Given the description of an element on the screen output the (x, y) to click on. 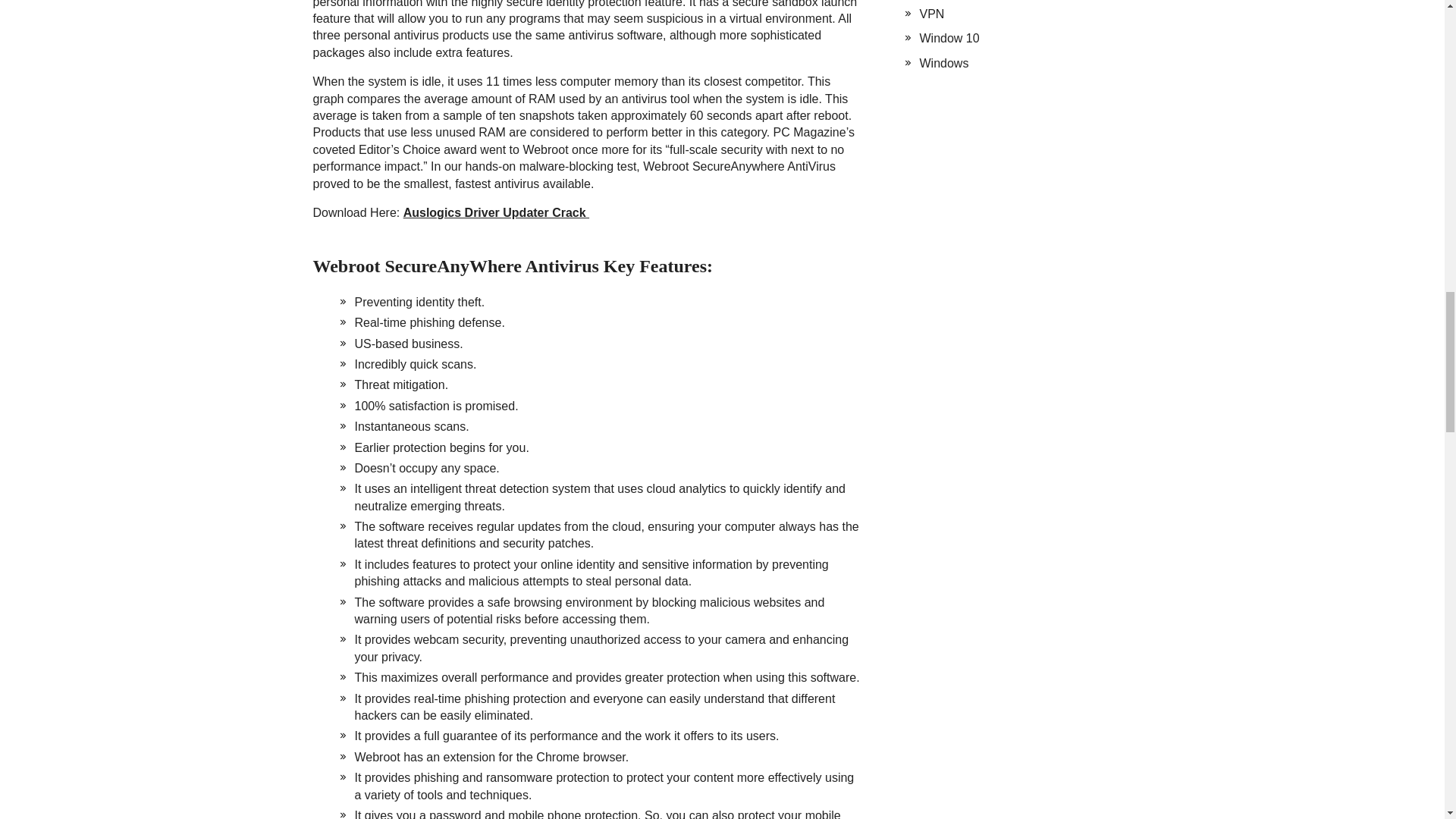
Auslogics Driver Updater Crack  (496, 212)
